Given the description of an element on the screen output the (x, y) to click on. 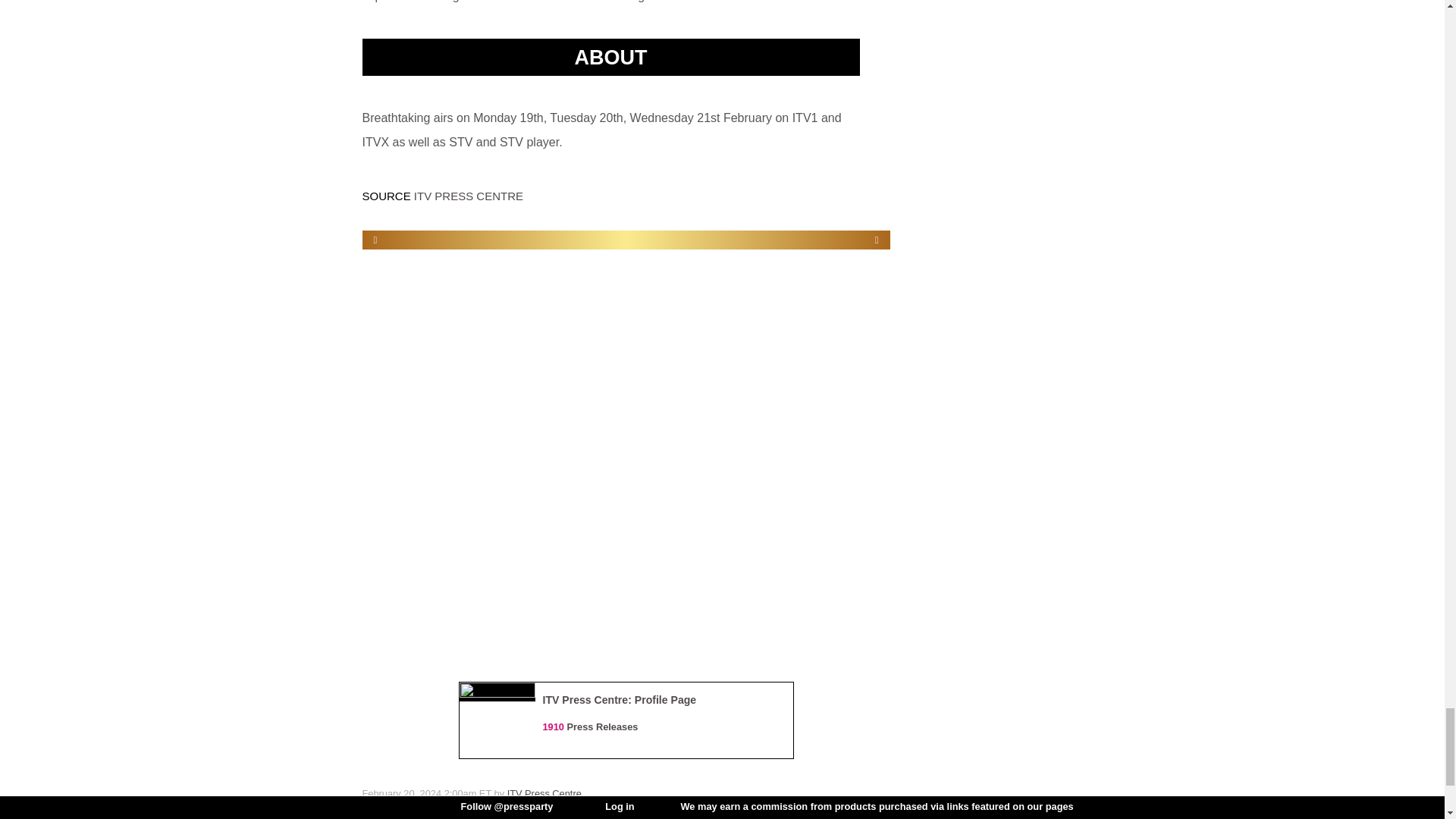
ITV Press Centre: Profile Page (620, 699)
ITV PRESS CENTRE (467, 195)
ITV Press Centre (543, 793)
press (400, 805)
1910 Press Releases (591, 726)
centre (431, 805)
